Given the description of an element on the screen output the (x, y) to click on. 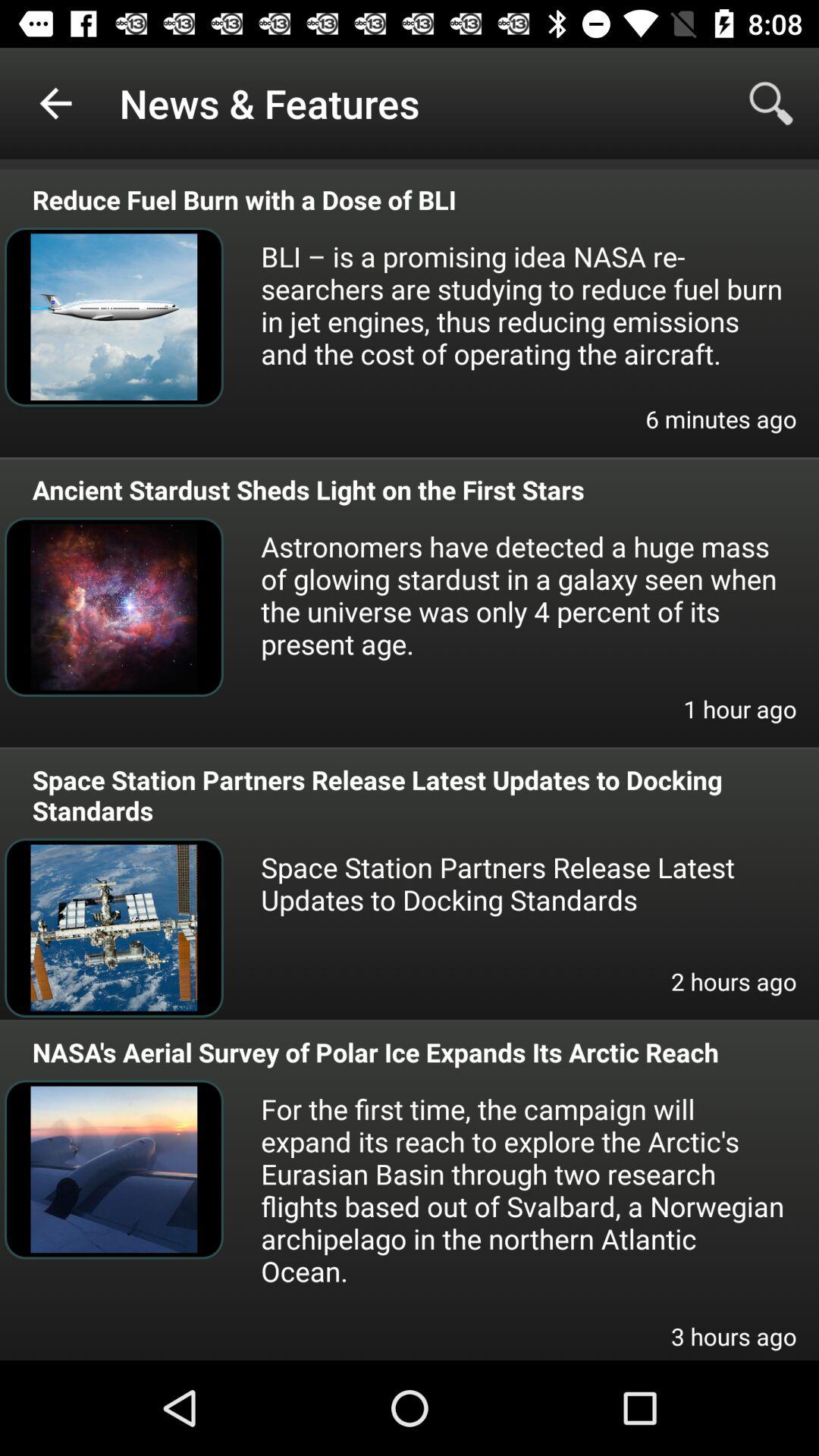
turn off item next to news & features item (771, 103)
